Given the description of an element on the screen output the (x, y) to click on. 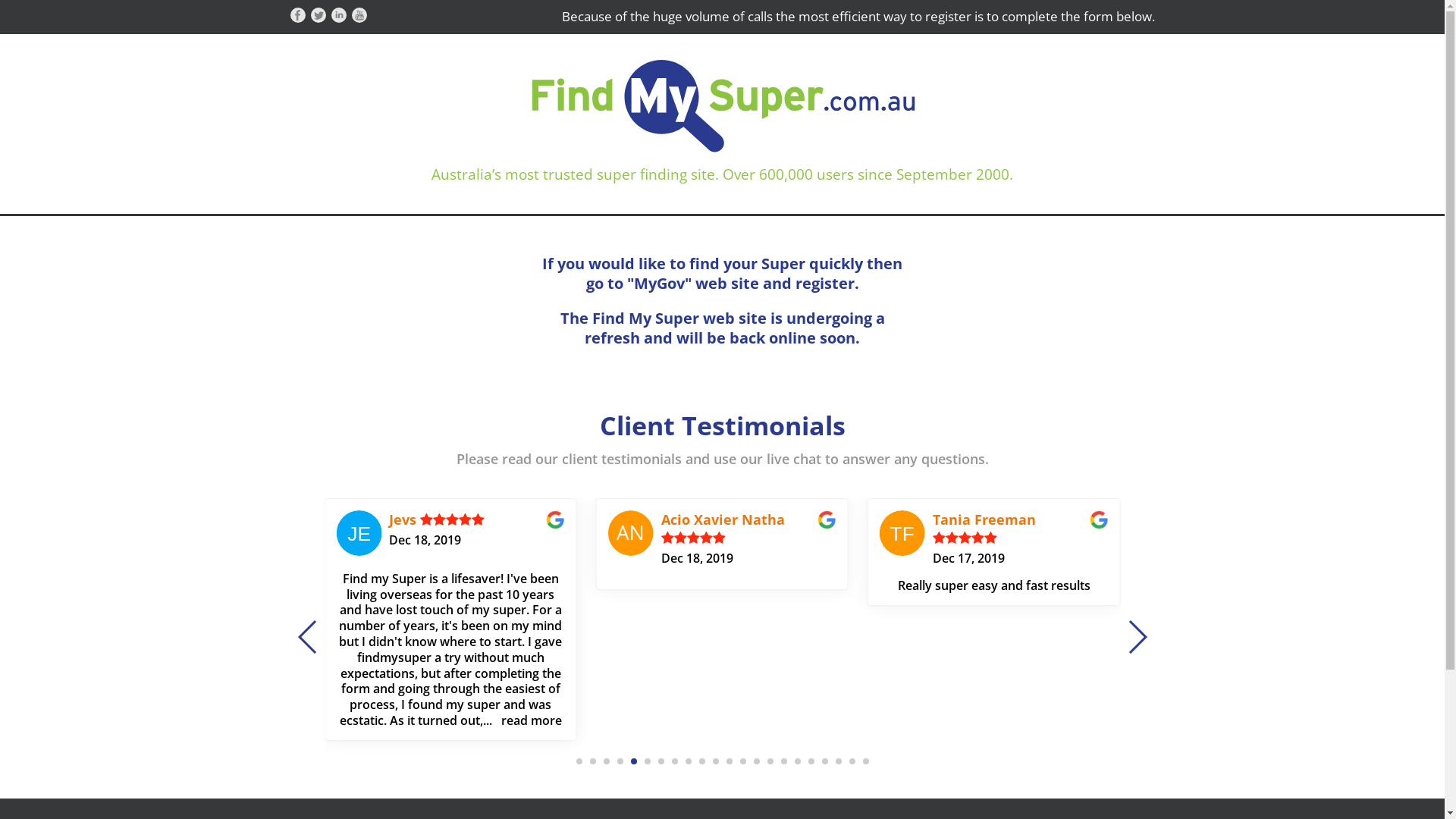
read more Element type: text (802, 720)
